Given the description of an element on the screen output the (x, y) to click on. 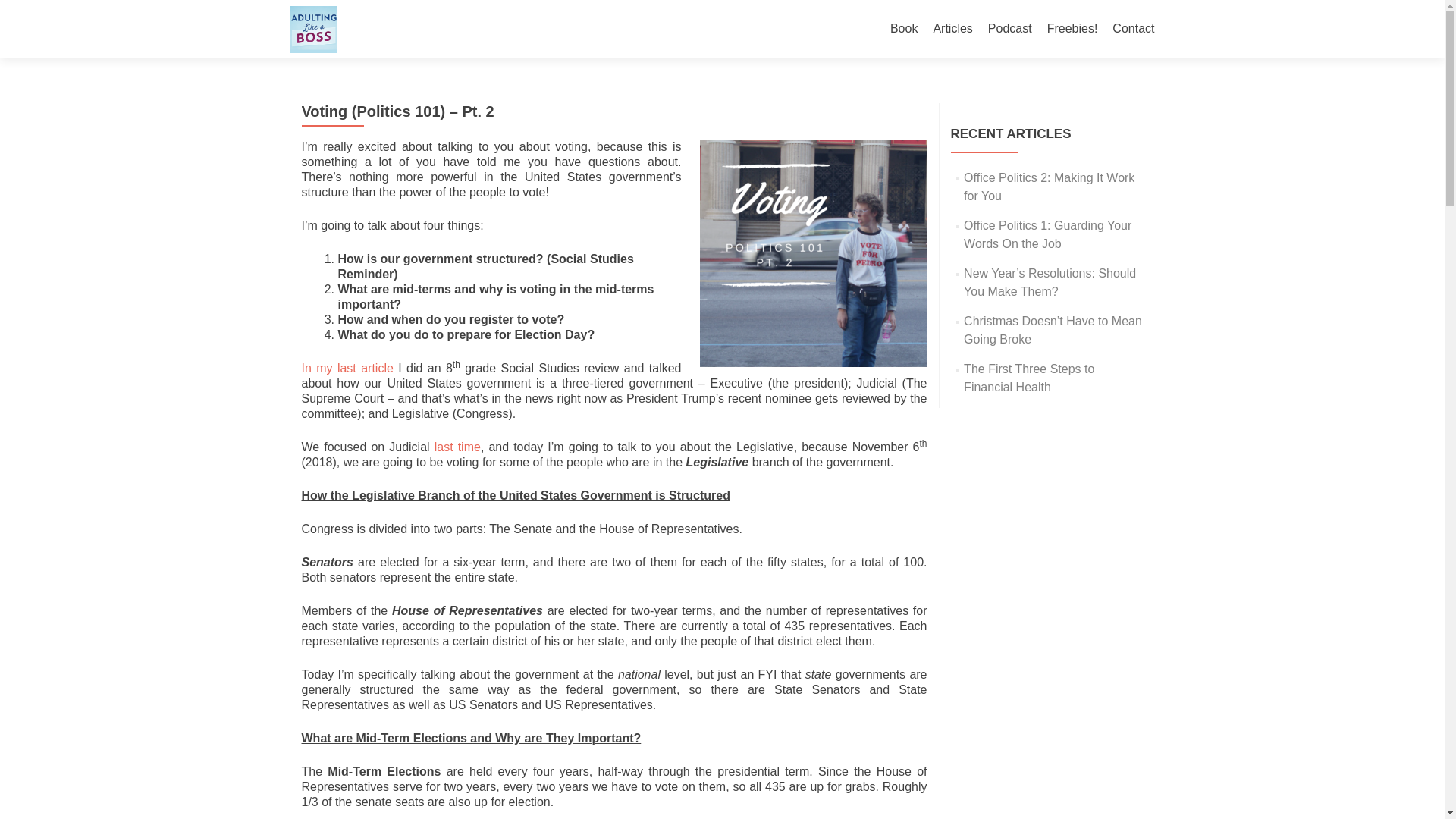
Book (903, 28)
Freebies! (1071, 28)
Office Politics 2: Making It Work for You (1048, 186)
last time (456, 446)
Office Politics 1: Guarding Your Words On the Job (1047, 234)
Contact (1133, 28)
In my last article (347, 367)
Articles (952, 28)
Podcast (1010, 28)
The First Three Steps to Financial Health (1028, 377)
